Given the description of an element on the screen output the (x, y) to click on. 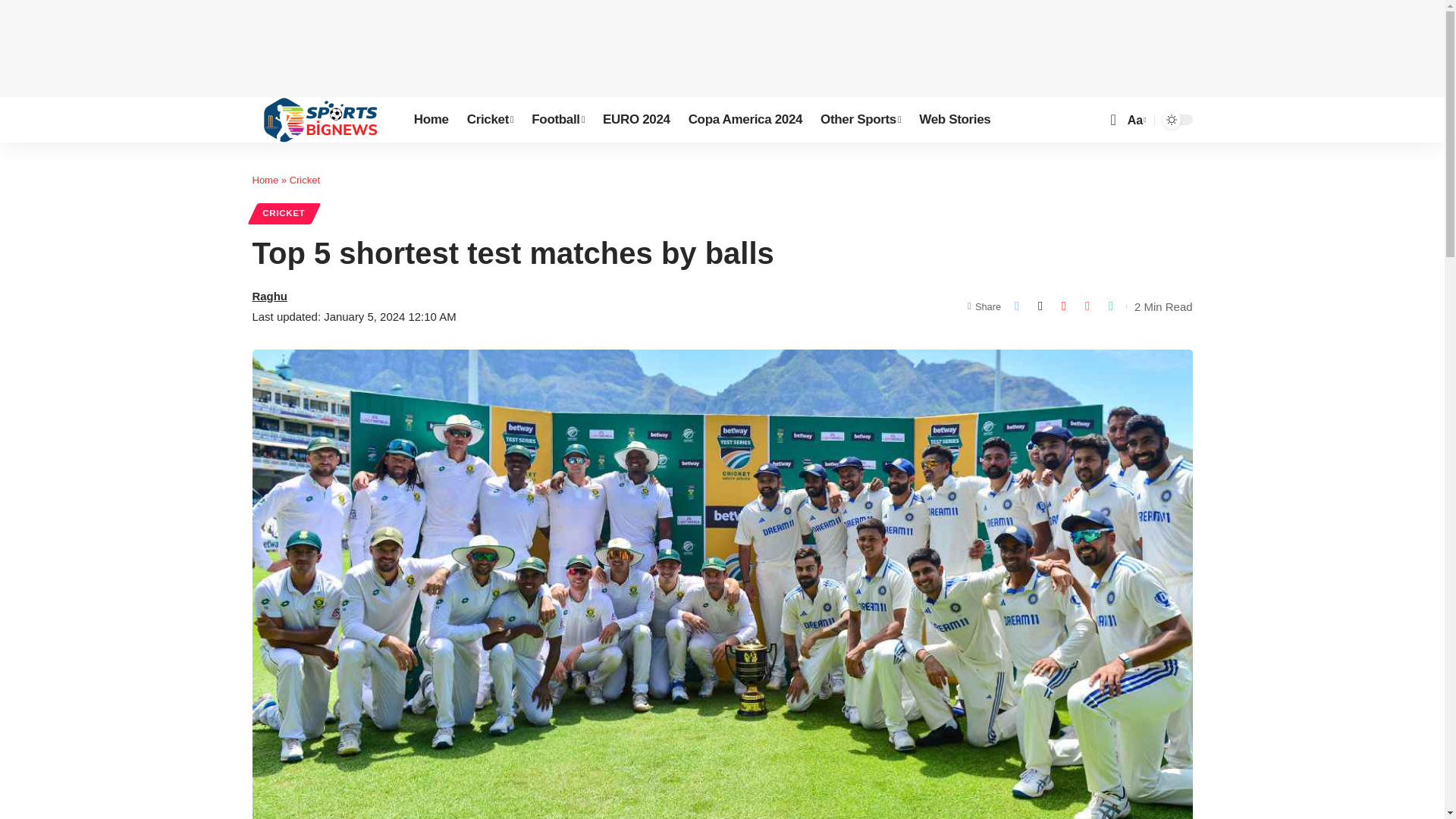
EURO 2024 (636, 119)
Web Stories (954, 119)
Cricket (490, 119)
Copa America 2024 (744, 119)
SportsBigNews (319, 119)
Other Sports (860, 119)
Aa (1135, 119)
Home (431, 119)
Football (558, 119)
